Given the description of an element on the screen output the (x, y) to click on. 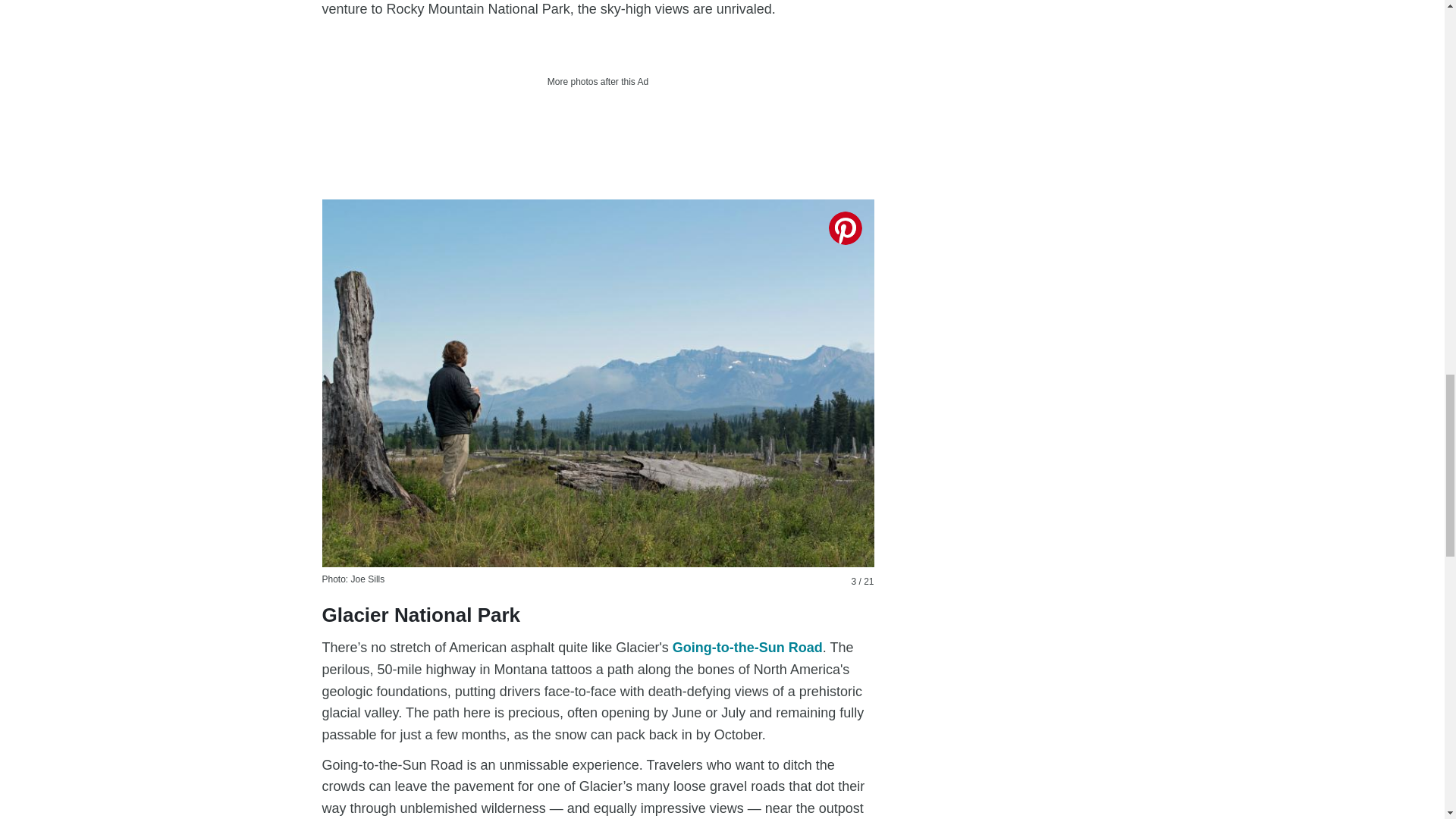
3rd party ad content (597, 128)
